Given the description of an element on the screen output the (x, y) to click on. 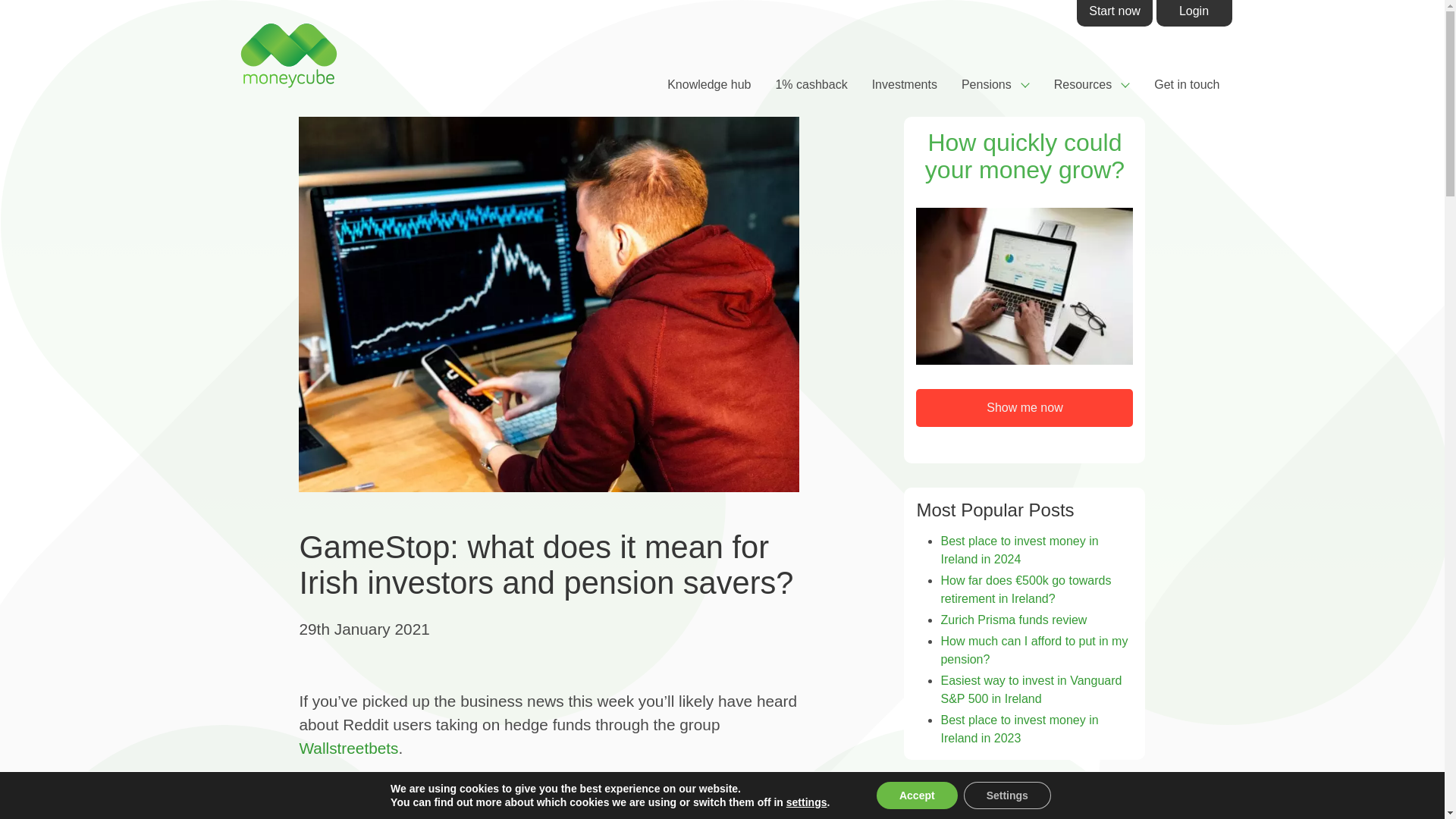
Show me now (1023, 407)
Show me now (1024, 407)
Start now (1115, 13)
Best place to invest money in Ireland in 2024 (1018, 549)
Best place to invest money in Ireland in 2023 (1018, 728)
Get in touch (1186, 84)
Knowledge hub (708, 84)
Pensions (995, 84)
Resources (1091, 84)
How much can I afford to put in my pension? (1033, 649)
